Given the description of an element on the screen output the (x, y) to click on. 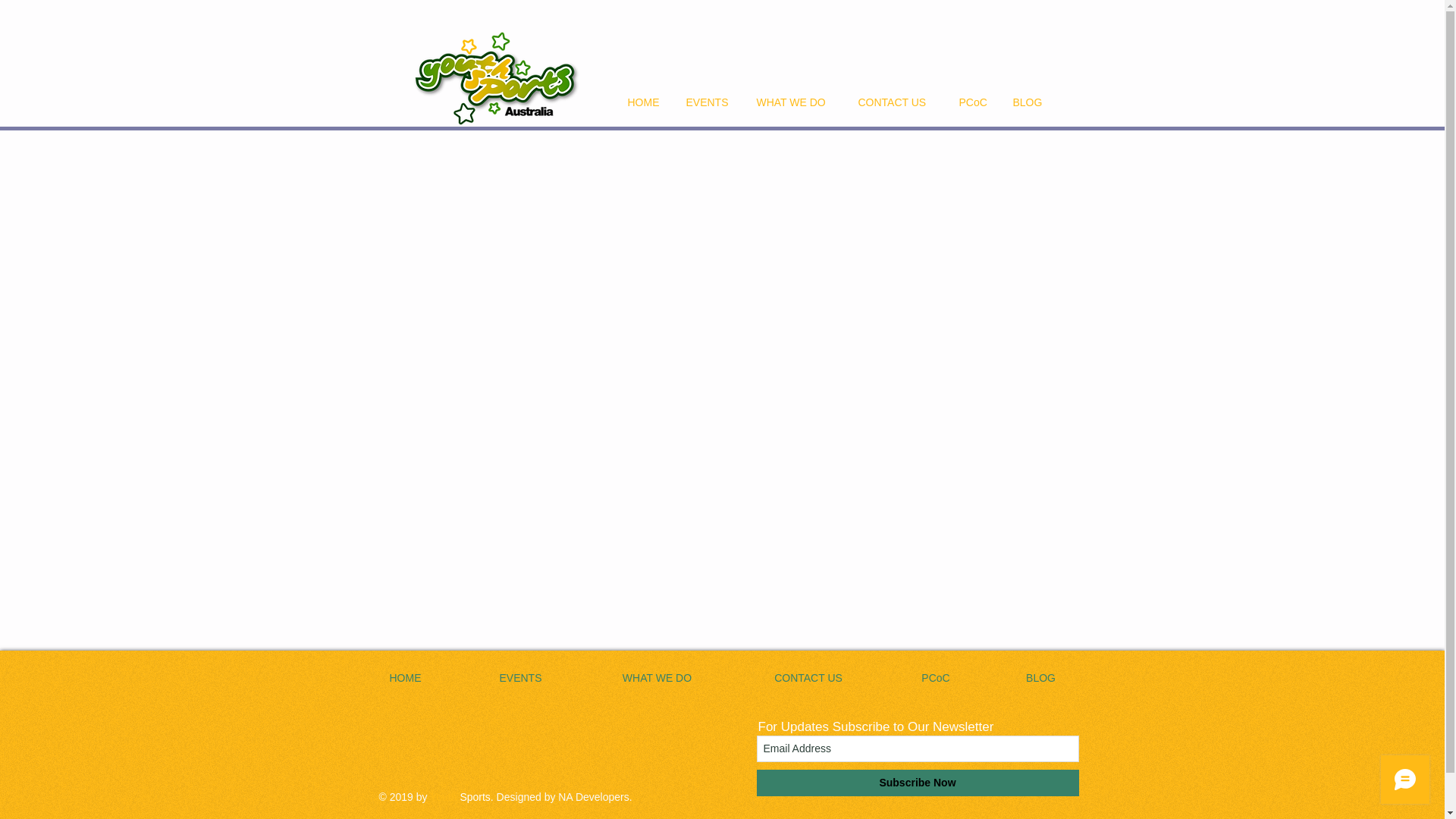
WHAT WE DO (656, 677)
PCoC (974, 101)
BLOG (1040, 677)
WHAT WE DO (794, 101)
Subscribe Now (917, 782)
PCoC (935, 677)
BLOG (1029, 101)
HOME (405, 677)
HOME (644, 101)
EVENTS (710, 101)
EVENTS (520, 677)
CONTACT US (896, 101)
CONTACT US (807, 677)
